Given the description of an element on the screen output the (x, y) to click on. 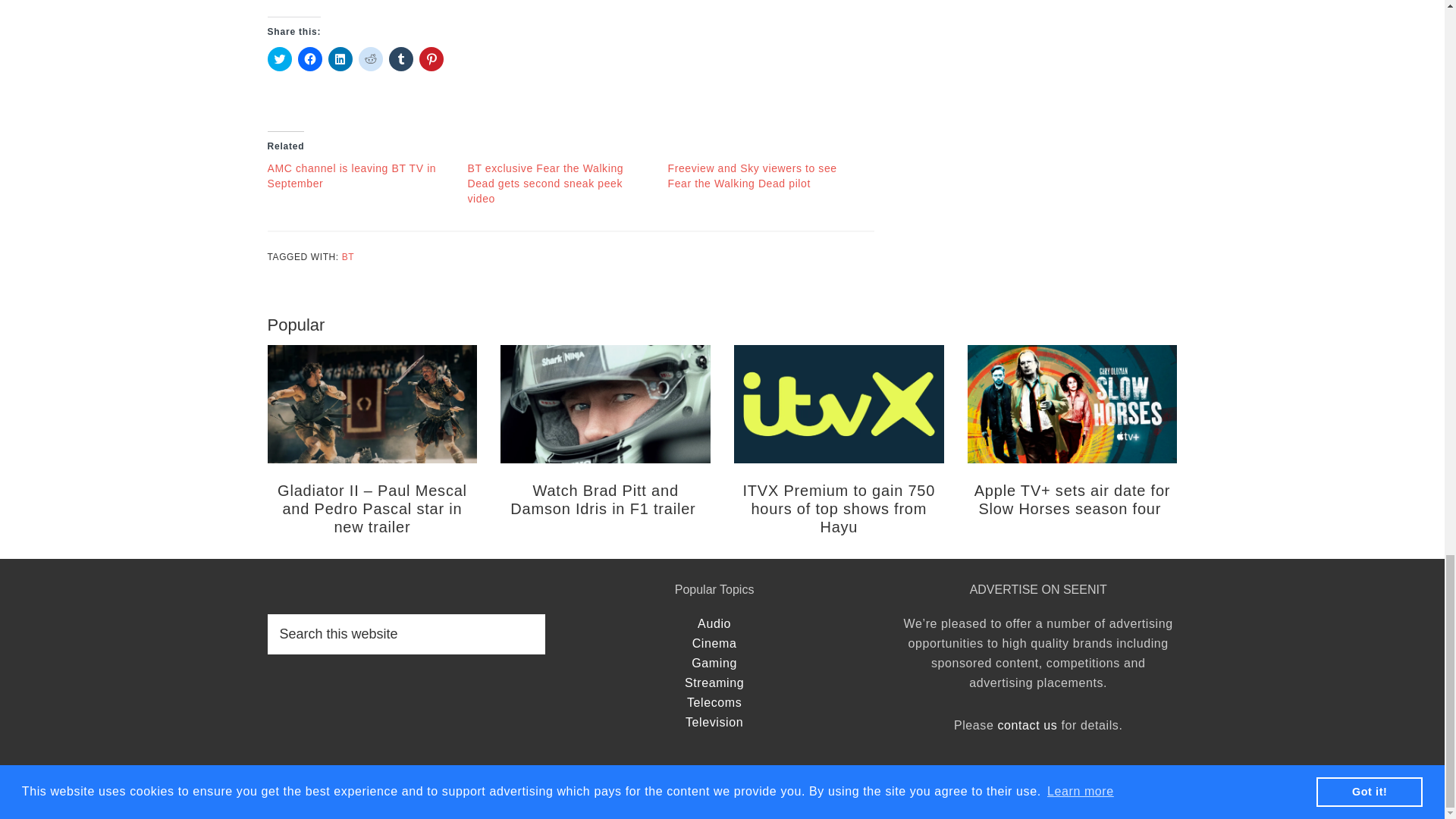
AMC channel is leaving BT TV in September   (350, 175)
ITVX Premium to gain 750 hours of top shows from Hayu (838, 508)
Click to share on Tumblr (400, 58)
BT (348, 256)
Freeview and Sky viewers to see Fear the Walking Dead pilot (750, 175)
Click to share on Reddit (369, 58)
Click to share on Pinterest (430, 58)
Click to share on LinkedIn (339, 58)
Click to share on Twitter (278, 58)
Watch Brad Pitt and Damson Idris in F1 trailer  (605, 499)
